Given the description of an element on the screen output the (x, y) to click on. 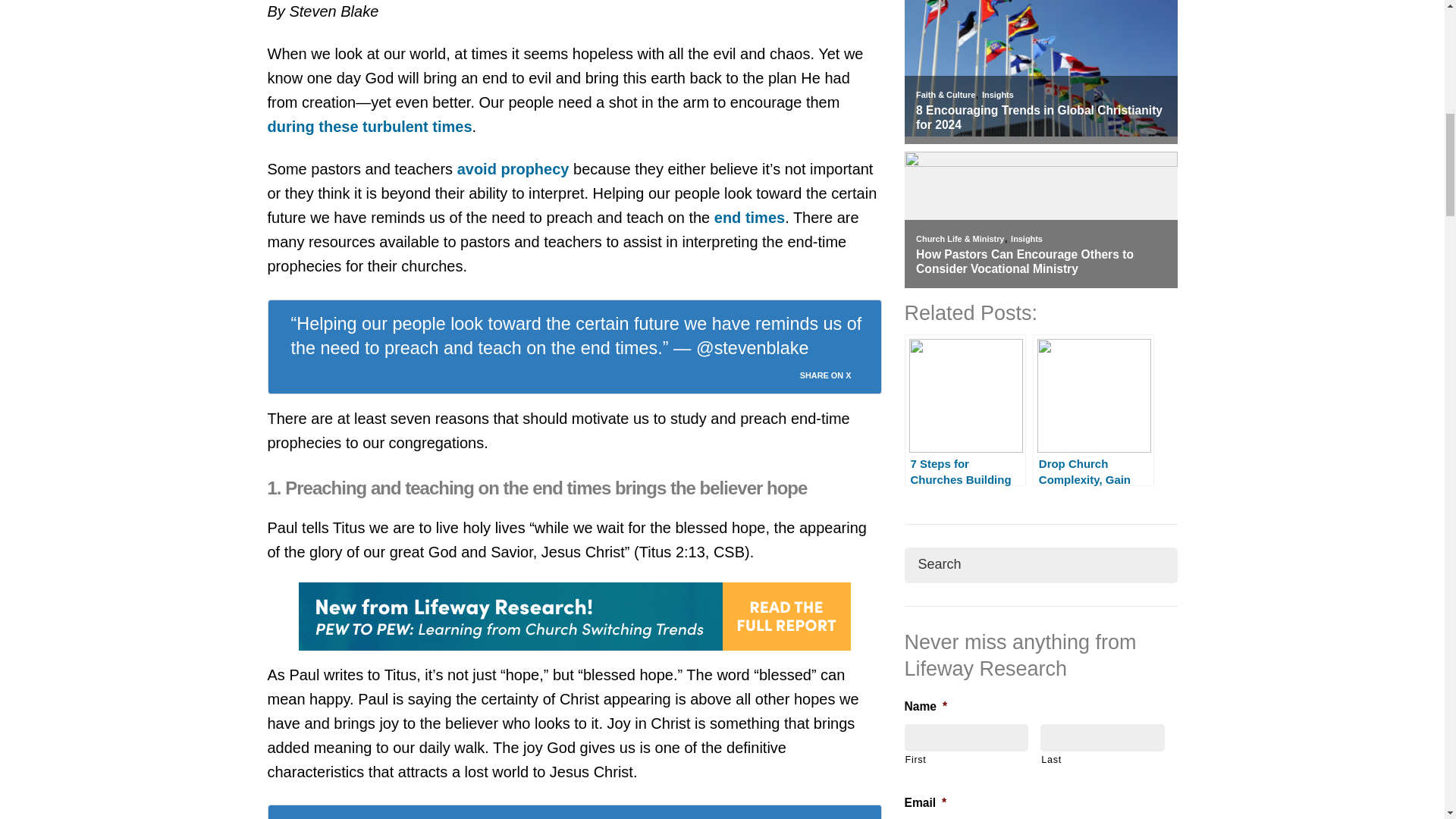
SHARE ON X (834, 371)
end times (749, 217)
avoid prophecy (513, 168)
during these turbulent times (368, 126)
